Given the description of an element on the screen output the (x, y) to click on. 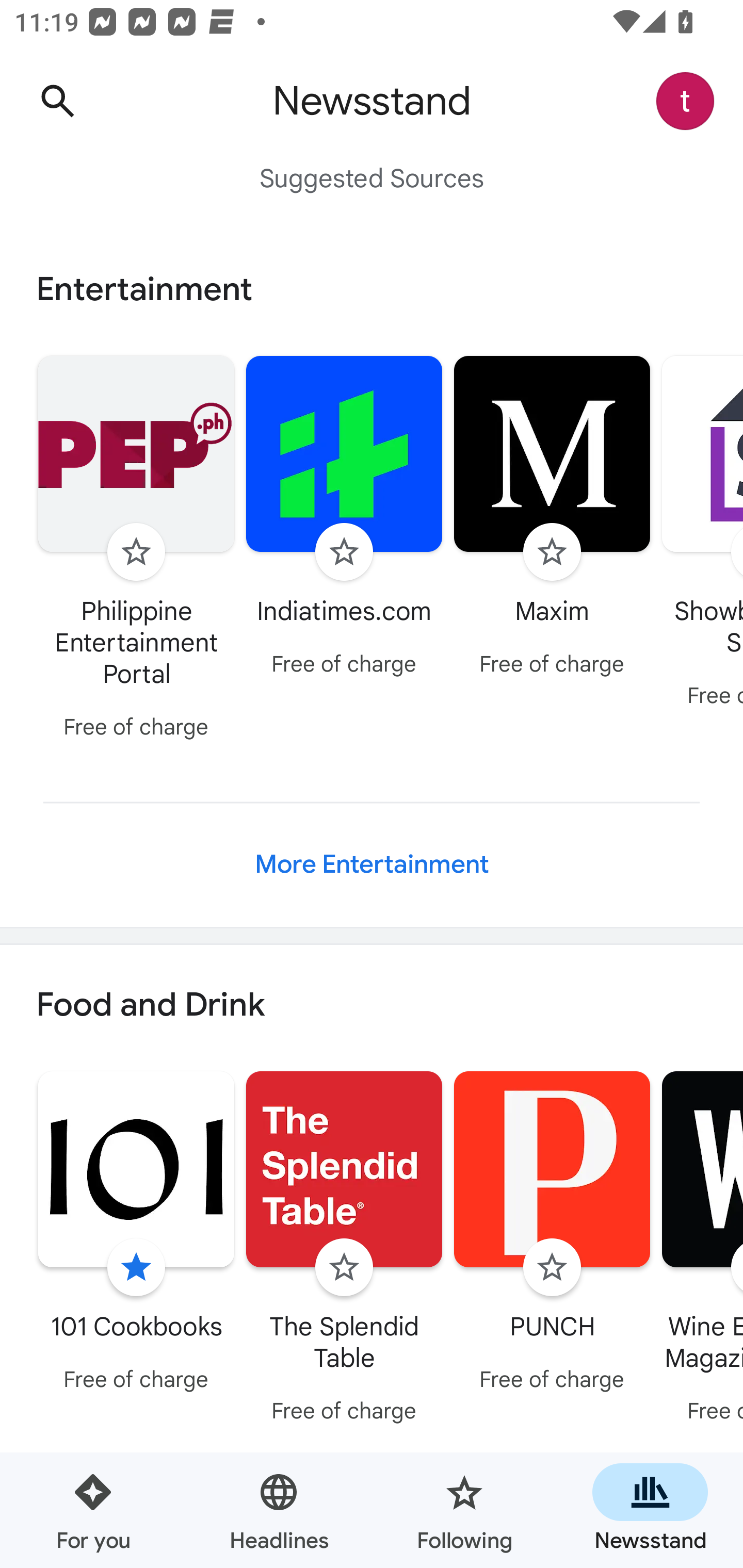
Search (57, 100)
Entertainment (371, 288)
Follow Indiatimes.com Free of charge (344, 517)
Follow Maxim Free of charge (552, 517)
Follow (135, 551)
Follow (343, 551)
Follow (552, 551)
More Entertainment (371, 864)
Food and Drink (371, 1005)
Unfollow 101 Cookbooks Free of charge (136, 1234)
Follow The Splendid Table Free of charge (344, 1250)
Follow PUNCH Free of charge (552, 1234)
Unfollow (135, 1267)
Follow (343, 1267)
Follow (552, 1267)
For you (92, 1509)
Headlines (278, 1509)
Following (464, 1509)
Newsstand (650, 1509)
